Given the description of an element on the screen output the (x, y) to click on. 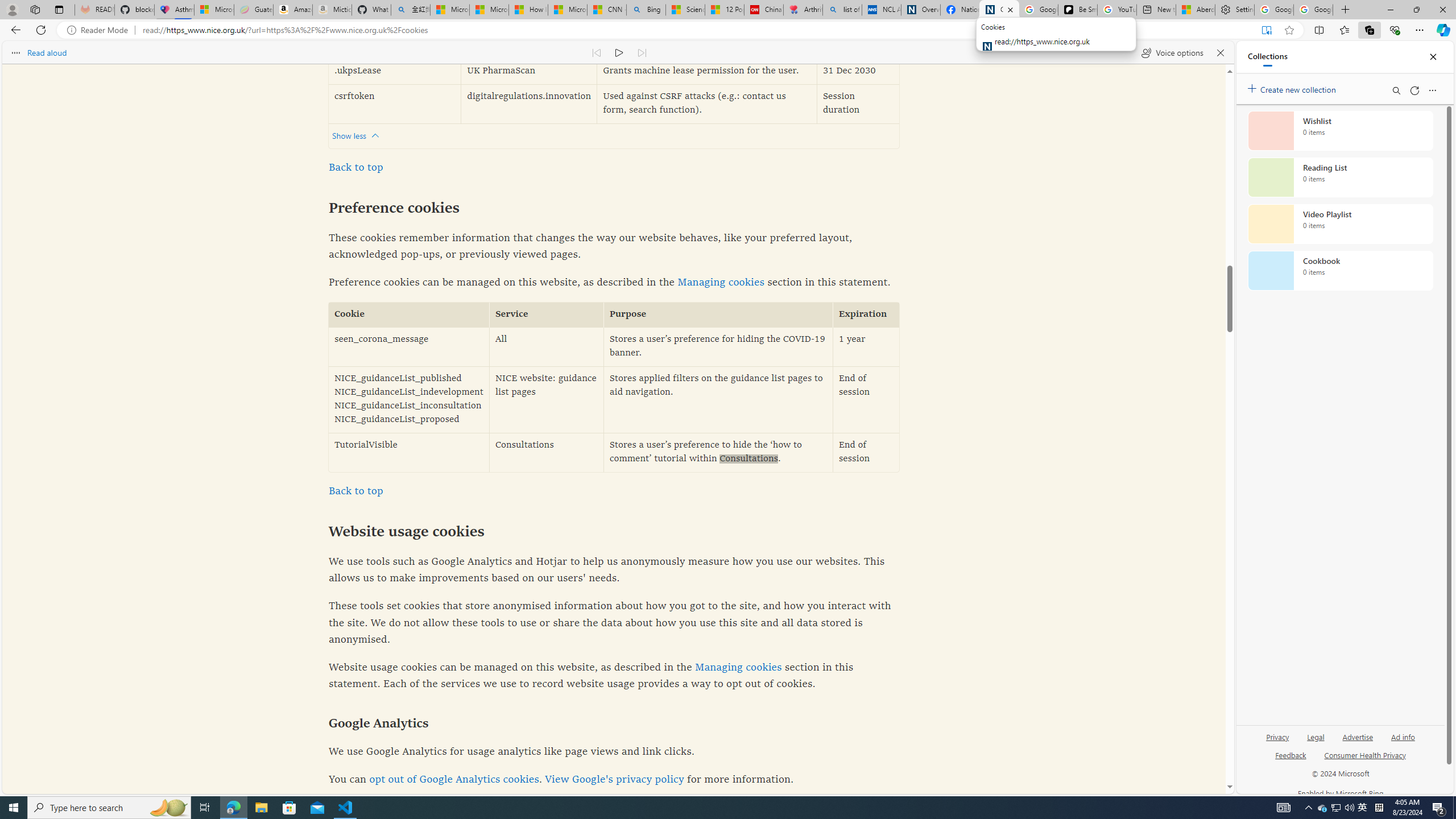
Feedback (1291, 759)
Privacy (1277, 741)
Expiration (865, 315)
Bing (646, 9)
Cookie (408, 315)
31 Dec 2030 (857, 71)
Feedback (1290, 754)
digitalregulations.innovation (528, 103)
